Given the description of an element on the screen output the (x, y) to click on. 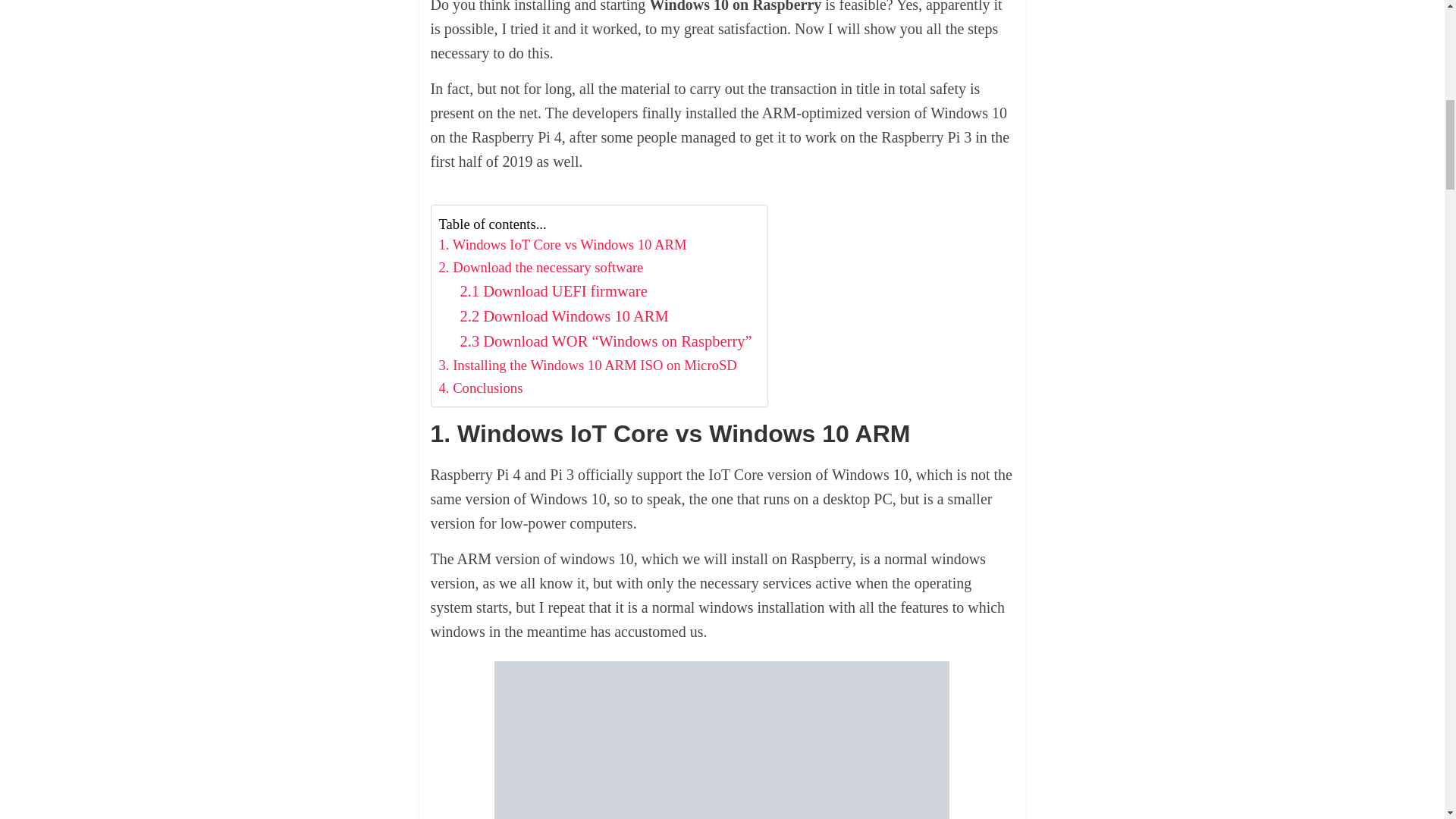
2. Download the necessary software (540, 267)
2.1 Download UEFI firmware (553, 291)
1. Windows IoT Core vs Windows 10 ARM (561, 244)
2.2 Download Windows 10 ARM (564, 316)
2.2 Download Windows 10 ARM (564, 316)
2.1 Download UEFI firmware (553, 291)
2. Download the necessary software (540, 267)
1. Windows IoT Core vs Windows 10 ARM (561, 244)
3. Installing the Windows 10 ARM ISO on MicroSD (587, 364)
3. Installing the Windows 10 ARM ISO on MicroSD (587, 364)
4. Conclusions (480, 387)
